Given the description of an element on the screen output the (x, y) to click on. 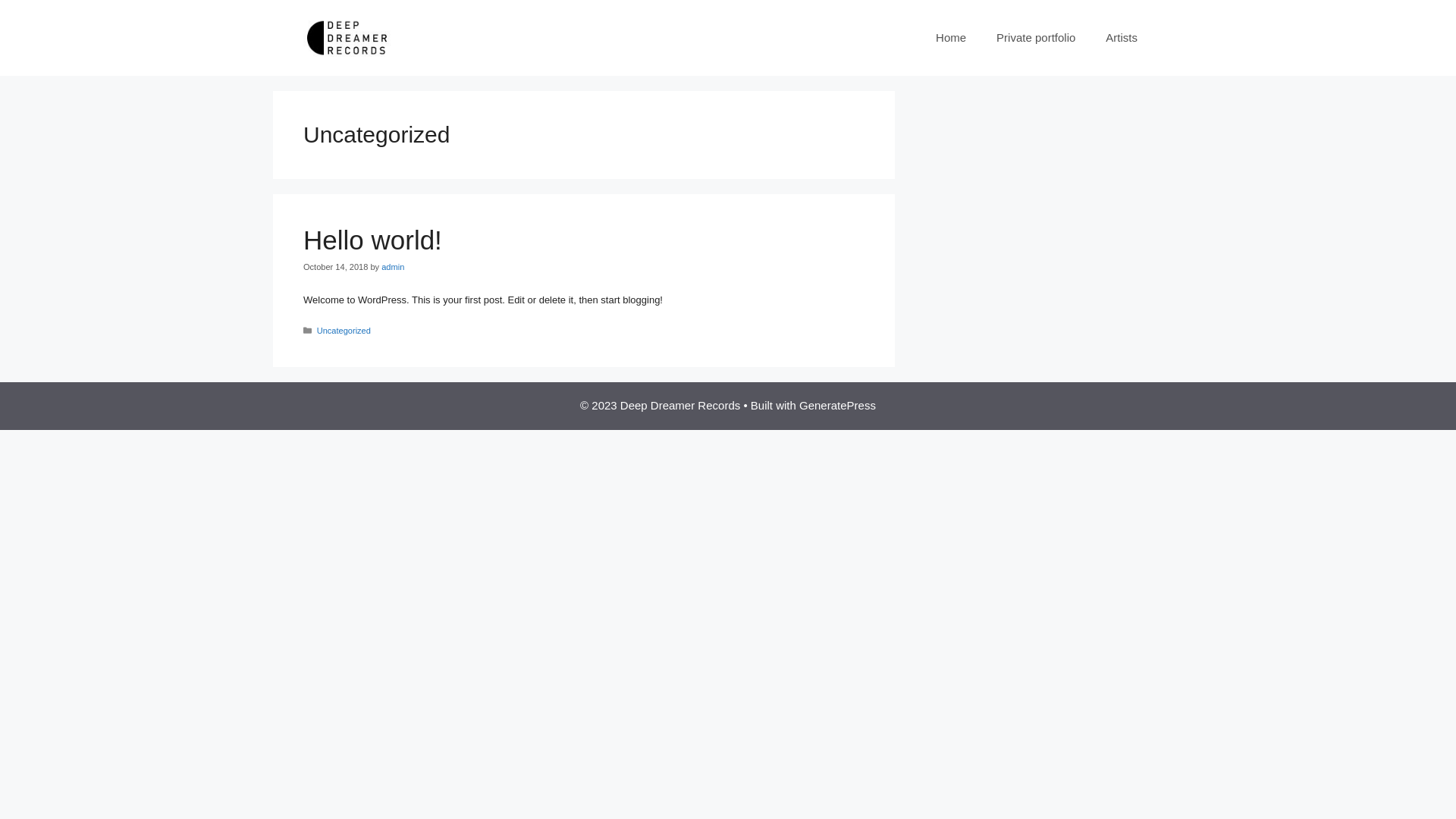
GeneratePress Element type: text (837, 404)
Home Element type: text (950, 37)
admin Element type: text (392, 266)
Artists Element type: text (1121, 37)
Private portfolio Element type: text (1035, 37)
Uncategorized Element type: text (343, 330)
Hello world! Element type: text (372, 239)
